Given the description of an element on the screen output the (x, y) to click on. 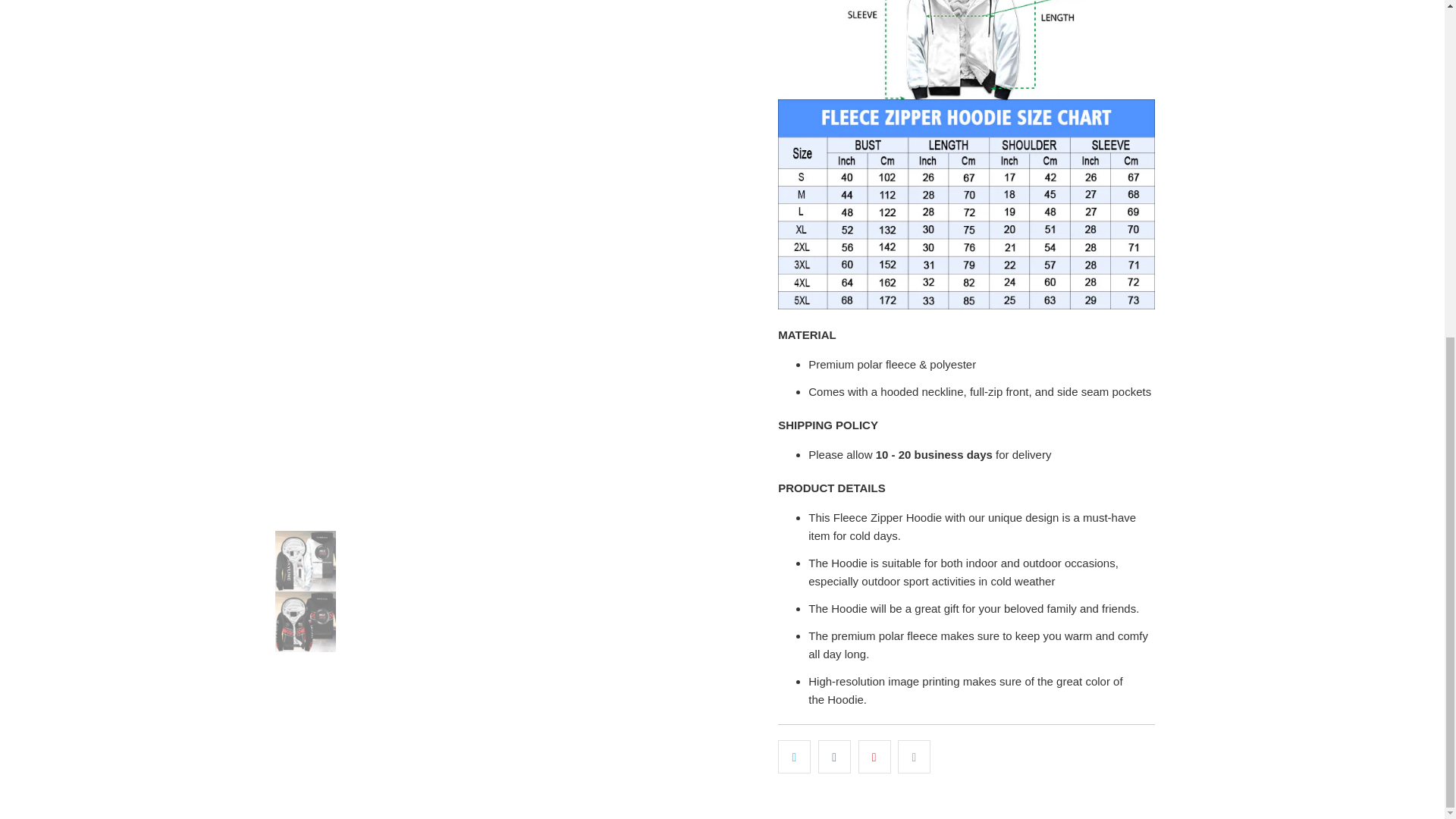
Email this to a friend (914, 756)
Share this on Pinterest (875, 756)
Share this on Facebook (834, 756)
Share this on Twitter (793, 756)
